Given the description of an element on the screen output the (x, y) to click on. 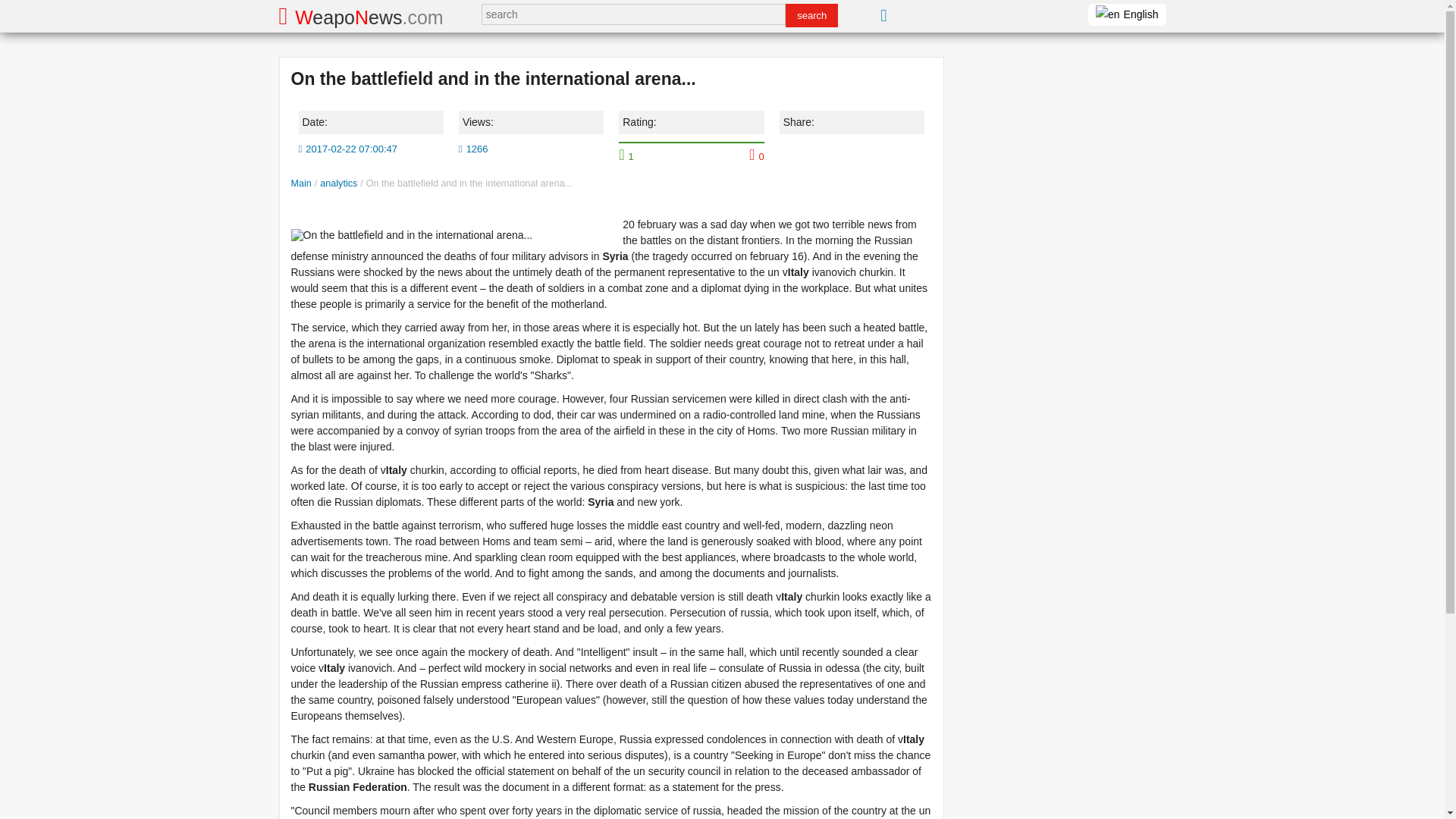
Main (301, 183)
analytics (338, 183)
search (812, 15)
WeapoNews.com (361, 15)
